Given the description of an element on the screen output the (x, y) to click on. 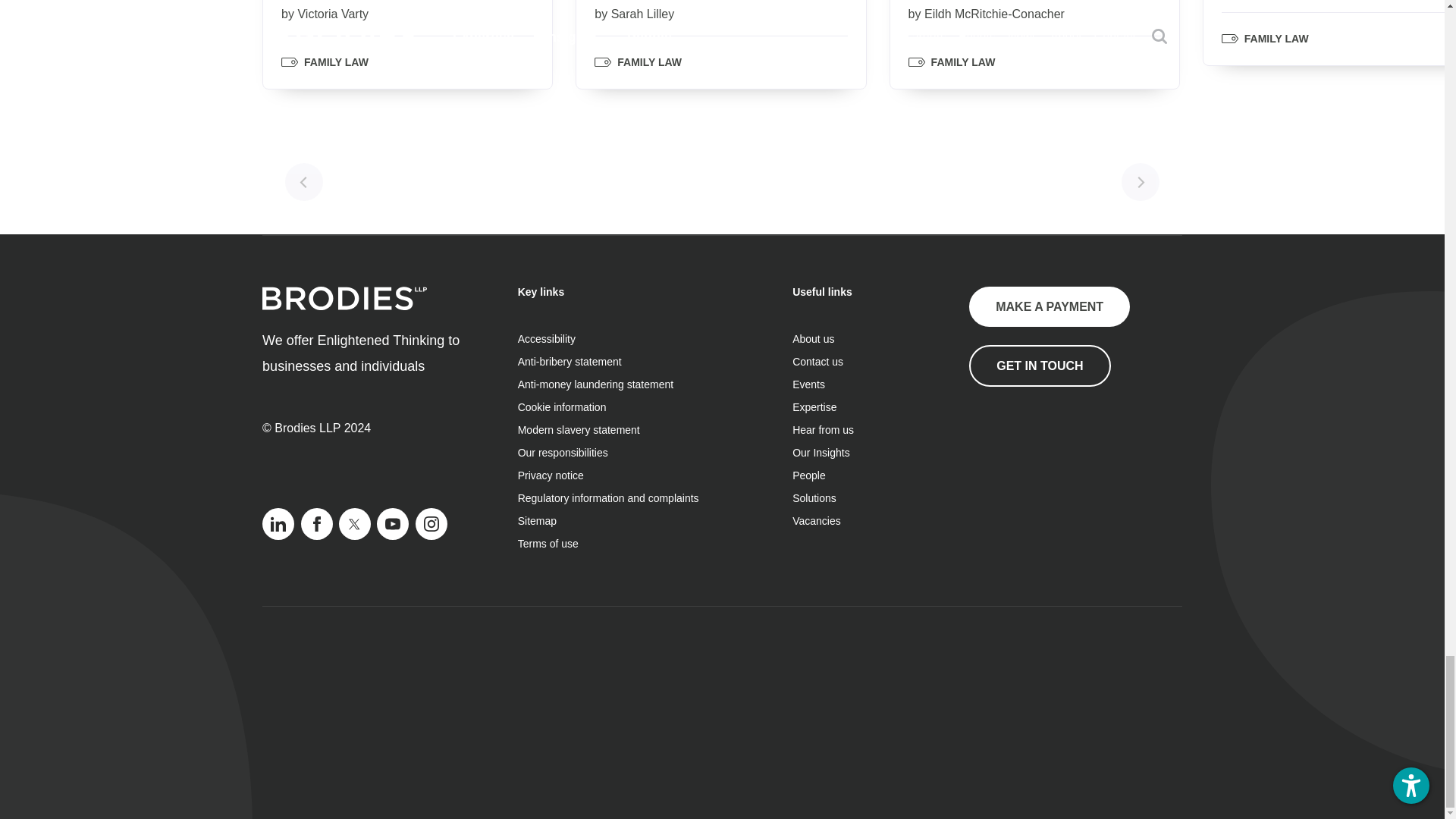
Youtube logo (392, 523)
Brodies (344, 298)
Click to return to the homepage (344, 305)
Solicitors Regulation Authority link (1045, 461)
